Given the description of an element on the screen output the (x, y) to click on. 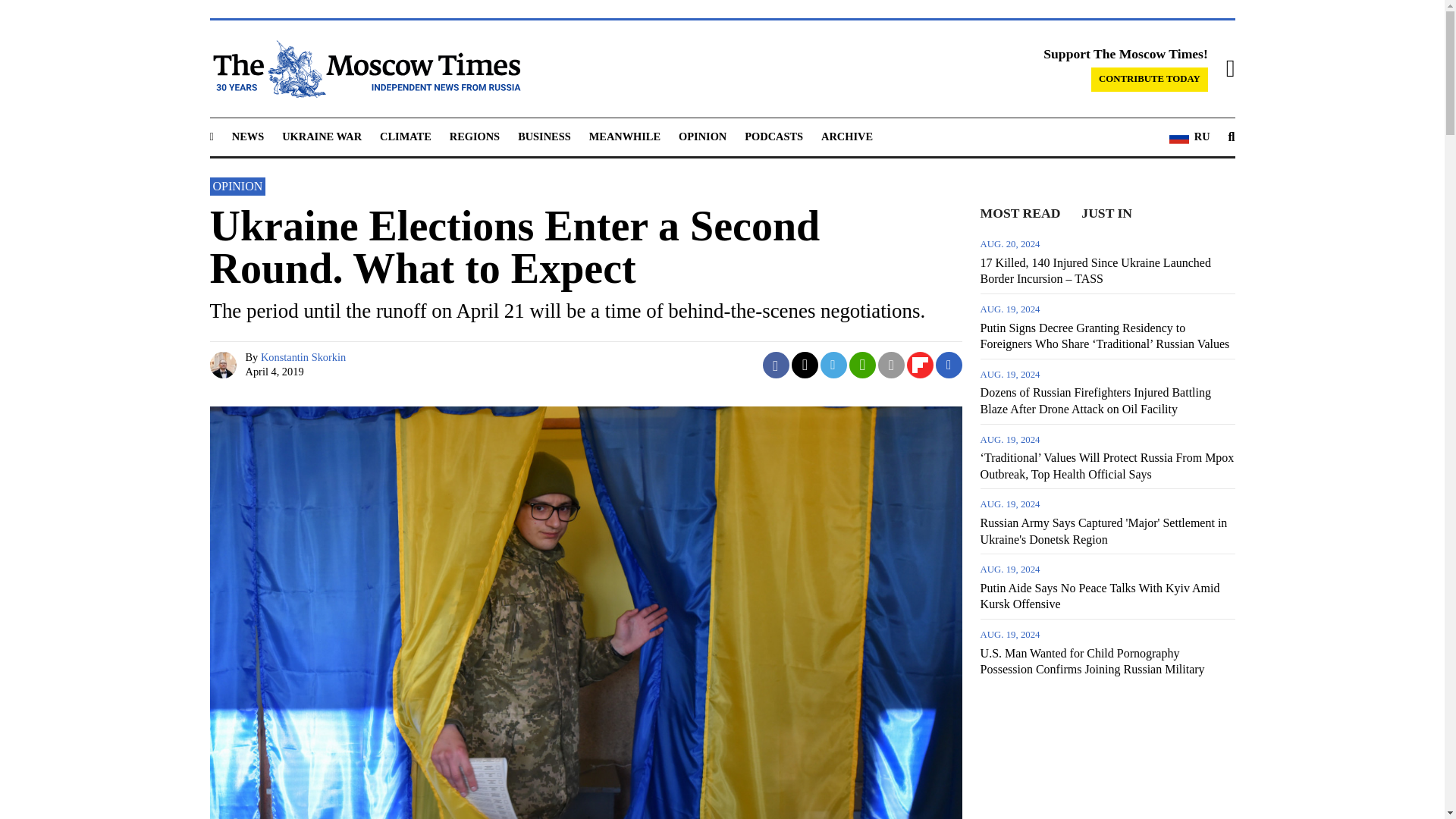
OPINION (702, 136)
BUSINESS (544, 136)
Konstantin Skorkin (303, 357)
Konstantin Skorkin (224, 365)
PODCASTS (773, 136)
Share on Twitter (805, 365)
CLIMATE (405, 136)
RU (1189, 137)
The Moscow Times - Independent News from Russia (364, 68)
Share on Telegram (834, 365)
